Given the description of an element on the screen output the (x, y) to click on. 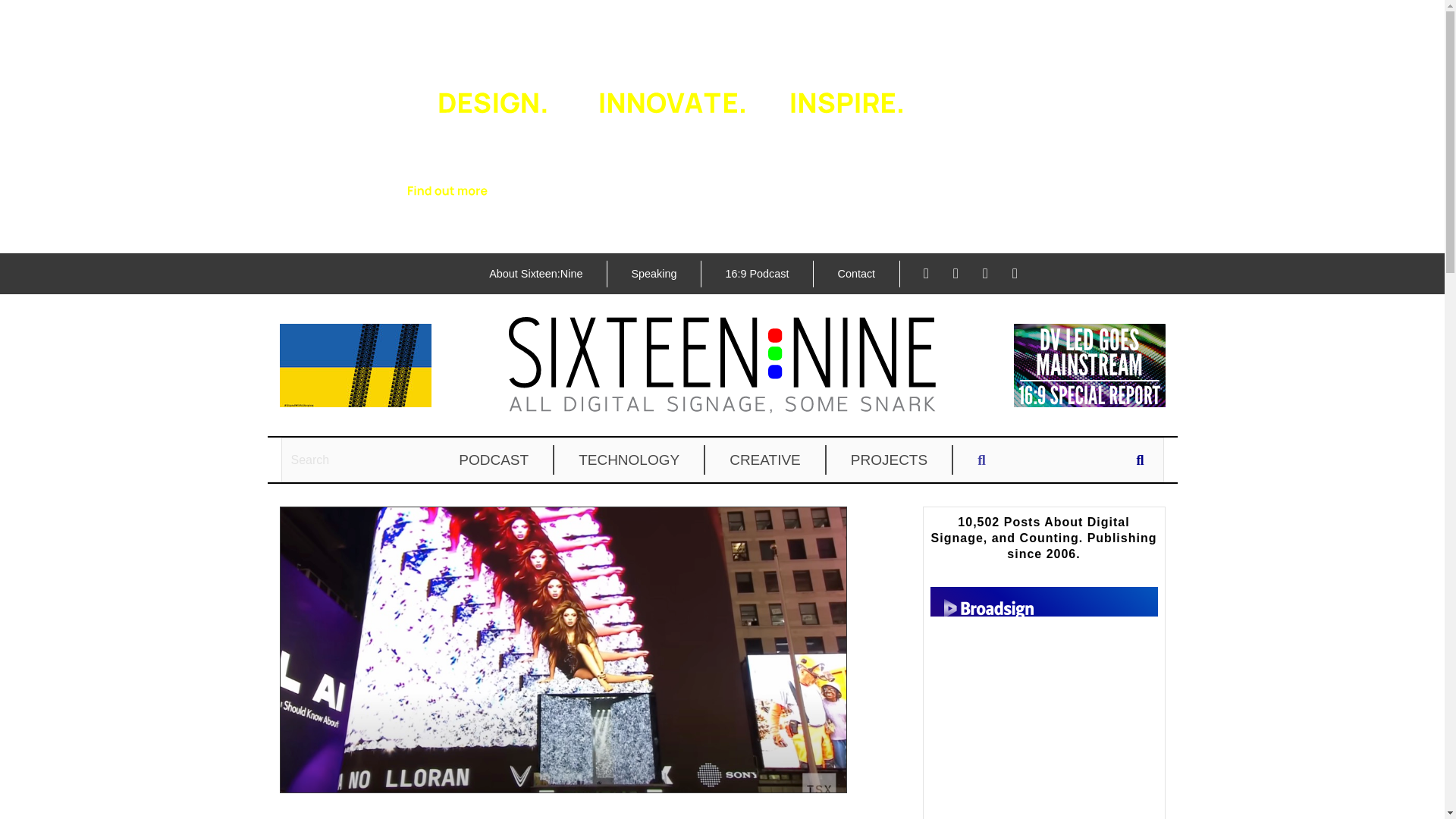
Contact (855, 273)
About Sixteen:Nine (535, 273)
PROJECTS (890, 460)
CREATIVE (765, 460)
16:9 Podcast (756, 273)
PODCAST (493, 460)
TECHNOLOGY (629, 460)
Speaking (653, 273)
